Given the description of an element on the screen output the (x, y) to click on. 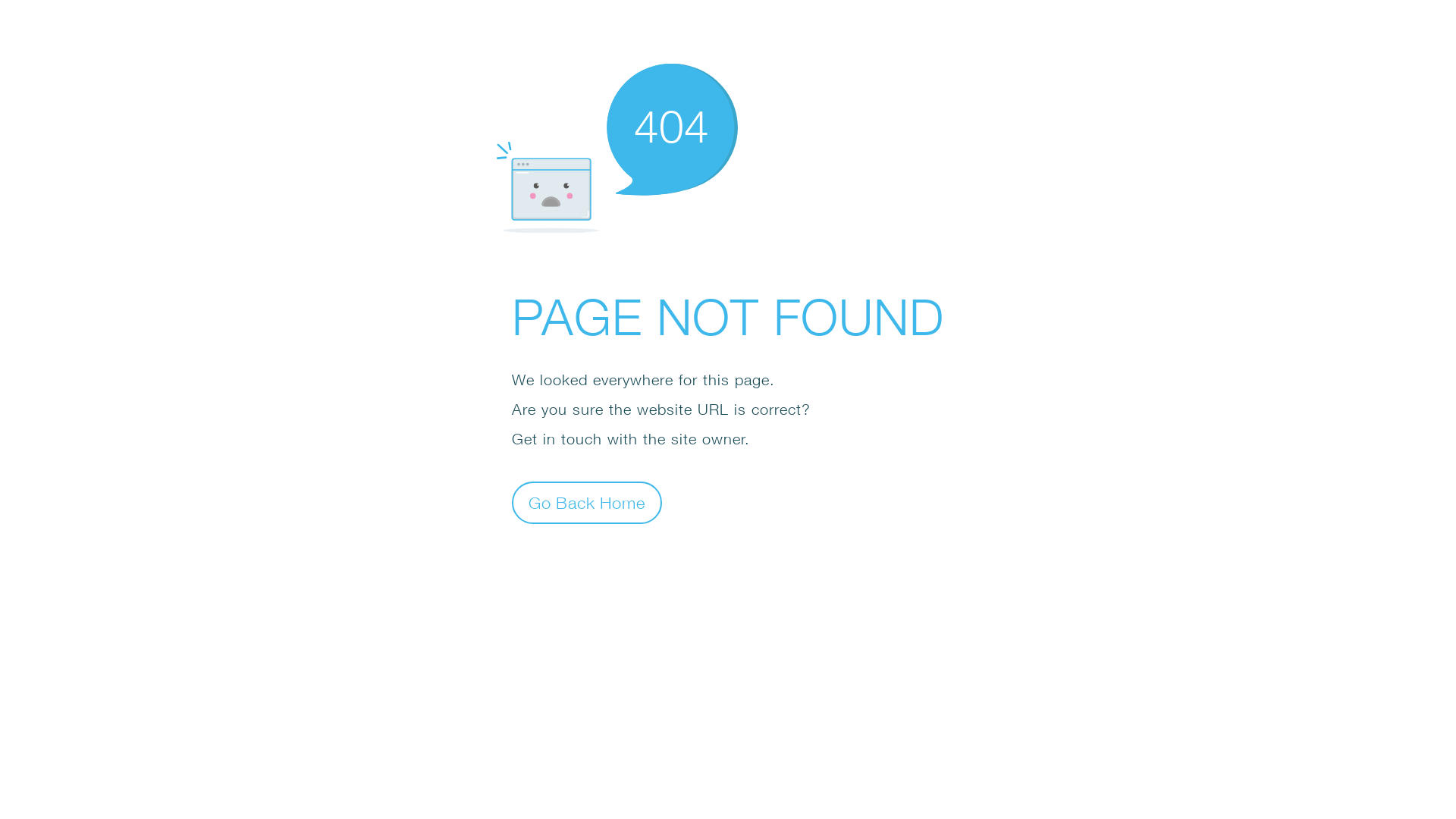
Go Back Home Element type: text (586, 502)
